Given the description of an element on the screen output the (x, y) to click on. 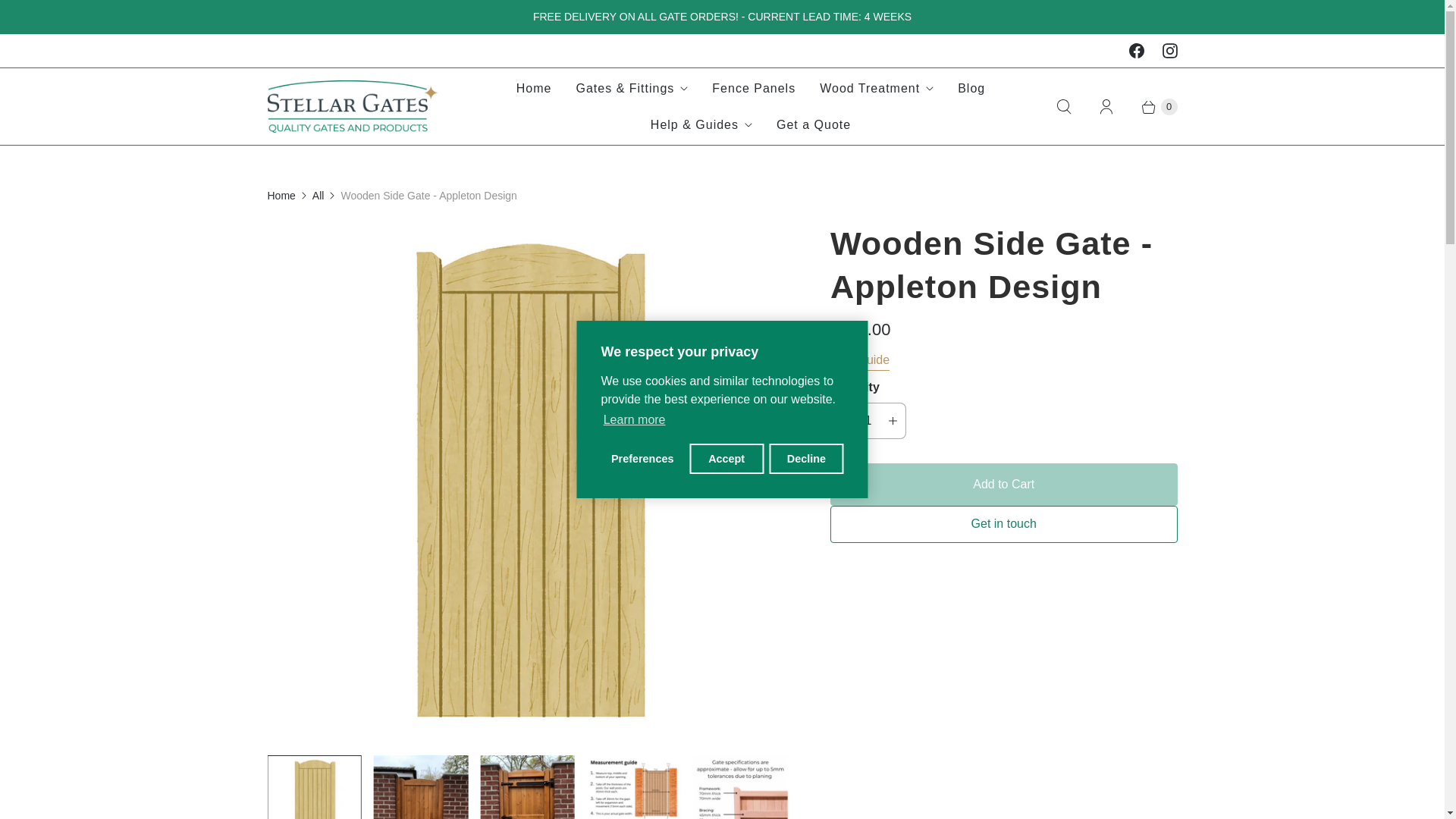
Blog (970, 88)
Fence Panels (754, 88)
Decline (805, 458)
Preferences (640, 458)
Learn more (632, 419)
1 (868, 420)
Home (533, 88)
Accept (725, 458)
